Given the description of an element on the screen output the (x, y) to click on. 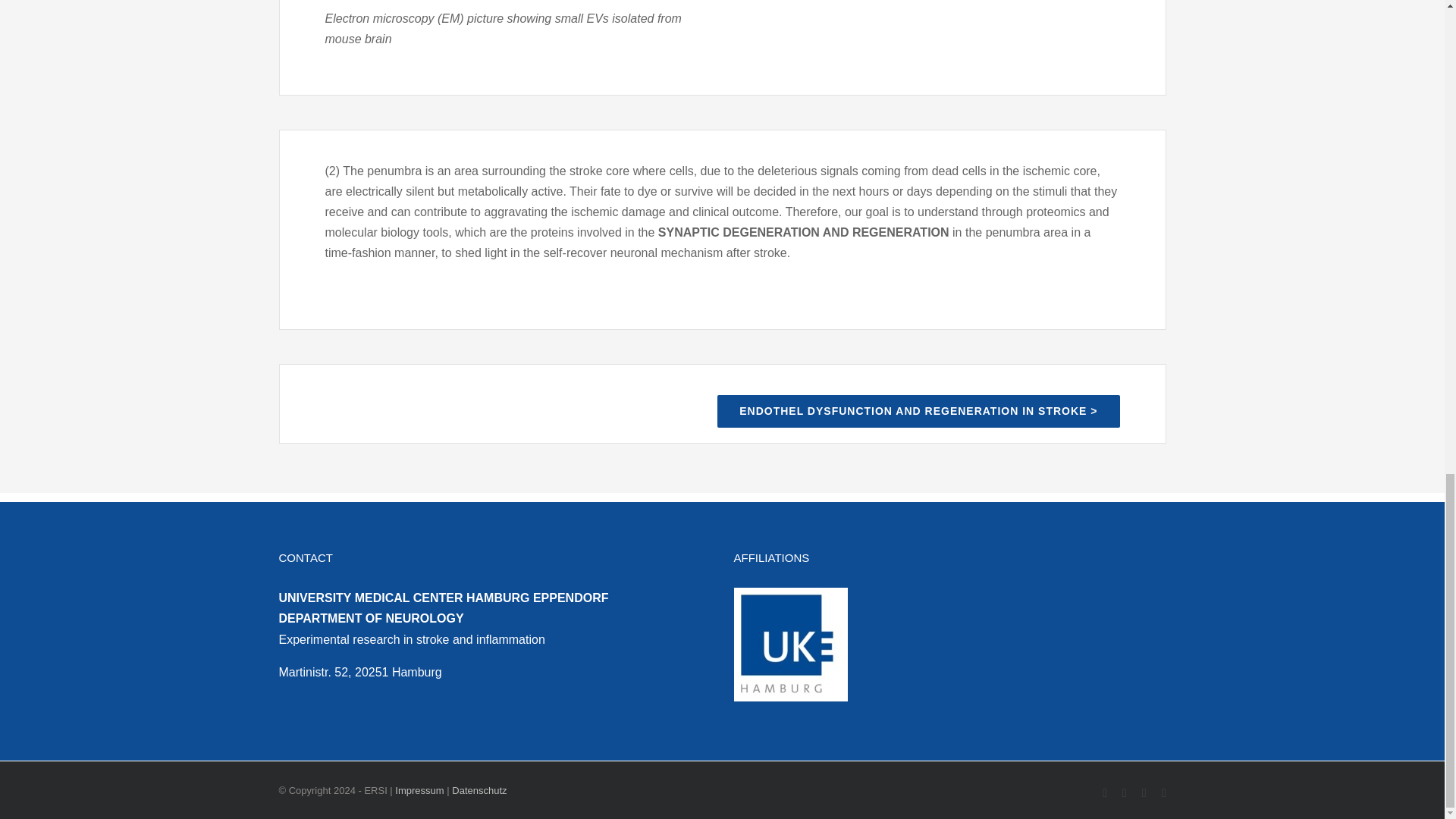
vesicles-and-stroke-1 (515, 3)
Impressum (419, 790)
Shift-Klick, um dieses Widget zu bearbeiten. (495, 704)
